Given the description of an element on the screen output the (x, y) to click on. 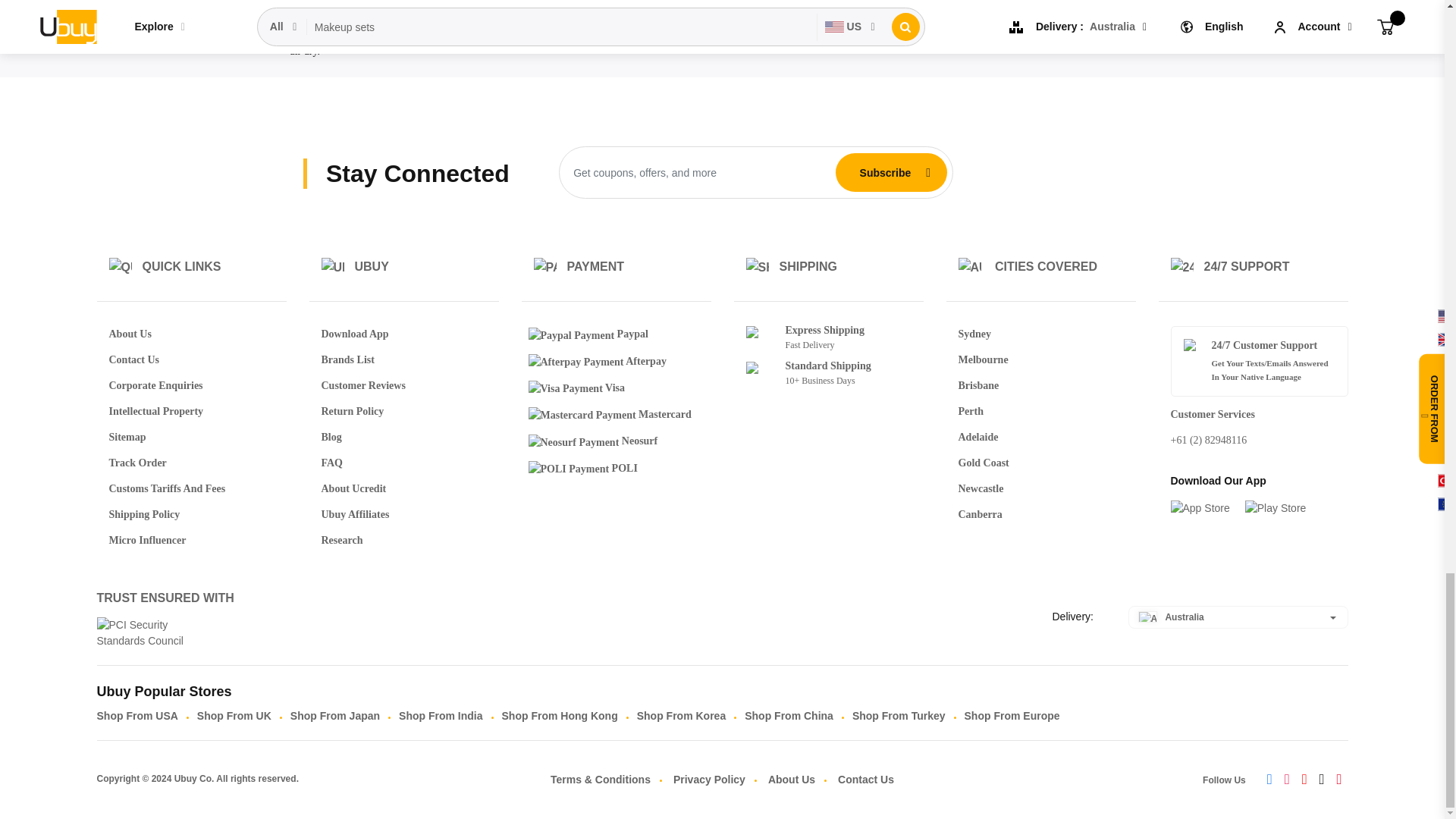
Subscribe (885, 172)
